Given the description of an element on the screen output the (x, y) to click on. 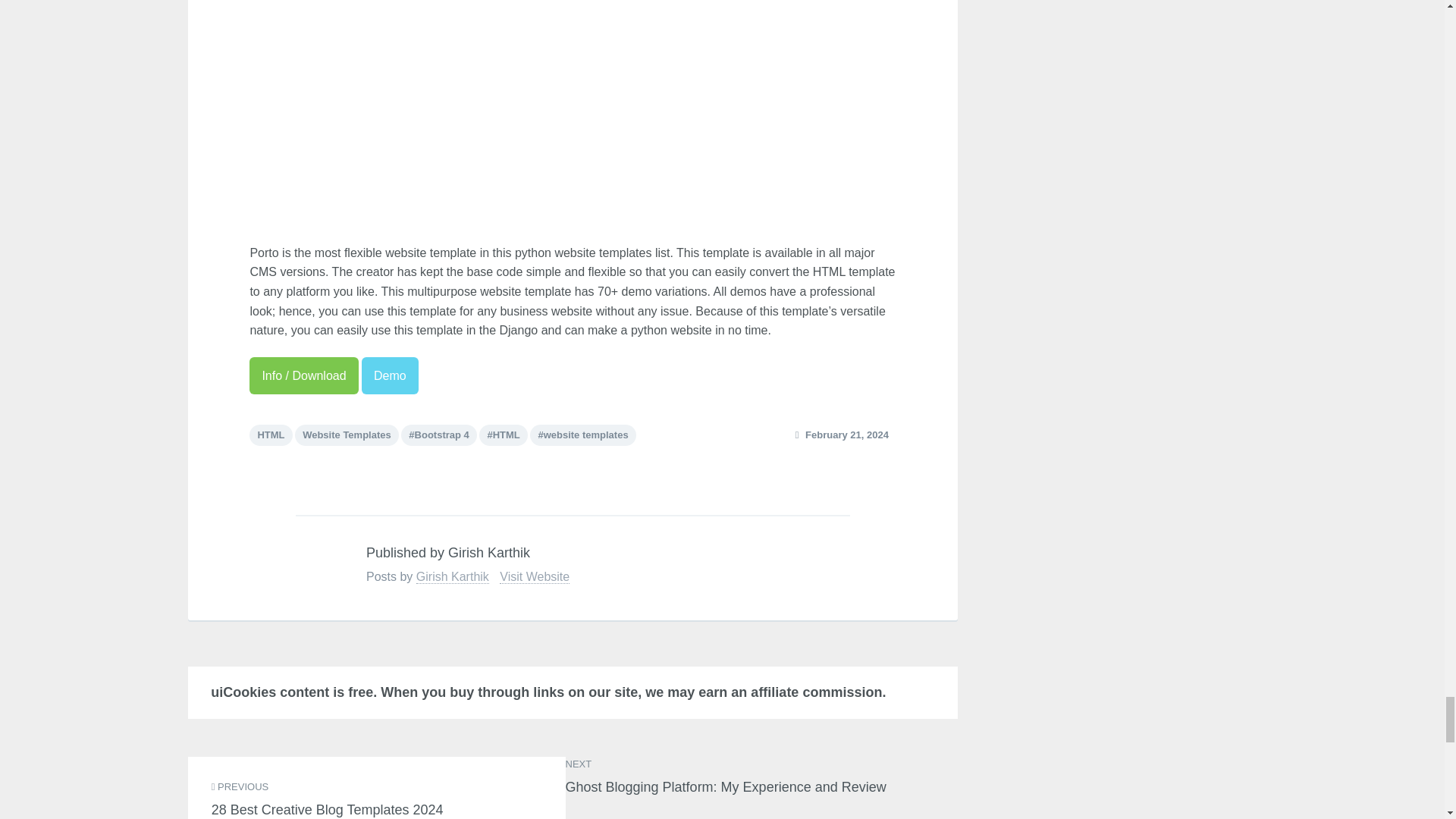
Posts by  Girish Karthik (314, 563)
Posts by Girish Karthik (450, 576)
